Given the description of an element on the screen output the (x, y) to click on. 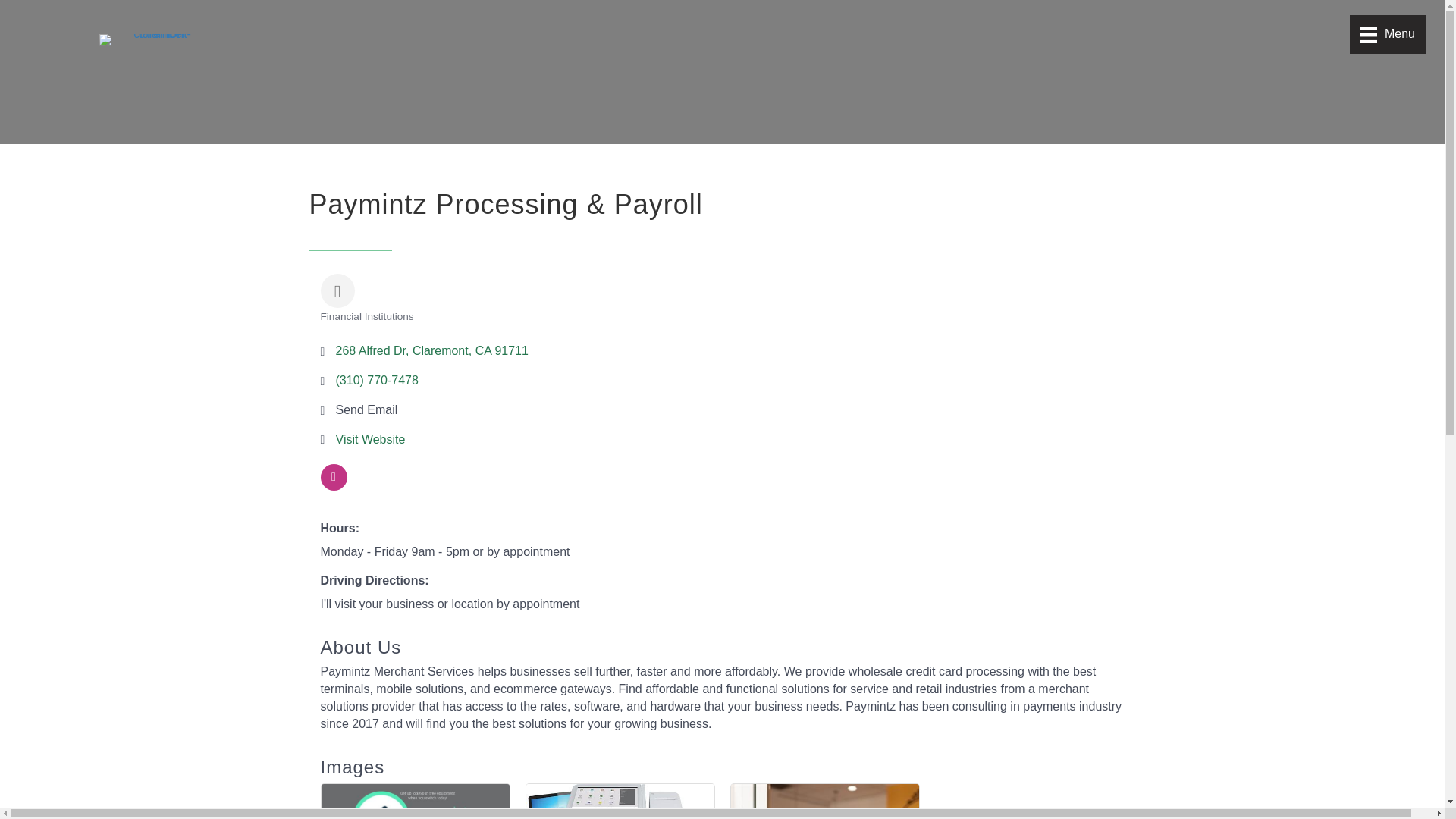
Sell Much? (619, 801)
Menu (1387, 34)
claremont-chamber (155, 39)
Book a Free Consultation (824, 801)
268 Alfred Dr Claremont CA 91711 (430, 350)
View on Instagram (333, 486)
